Given the description of an element on the screen output the (x, y) to click on. 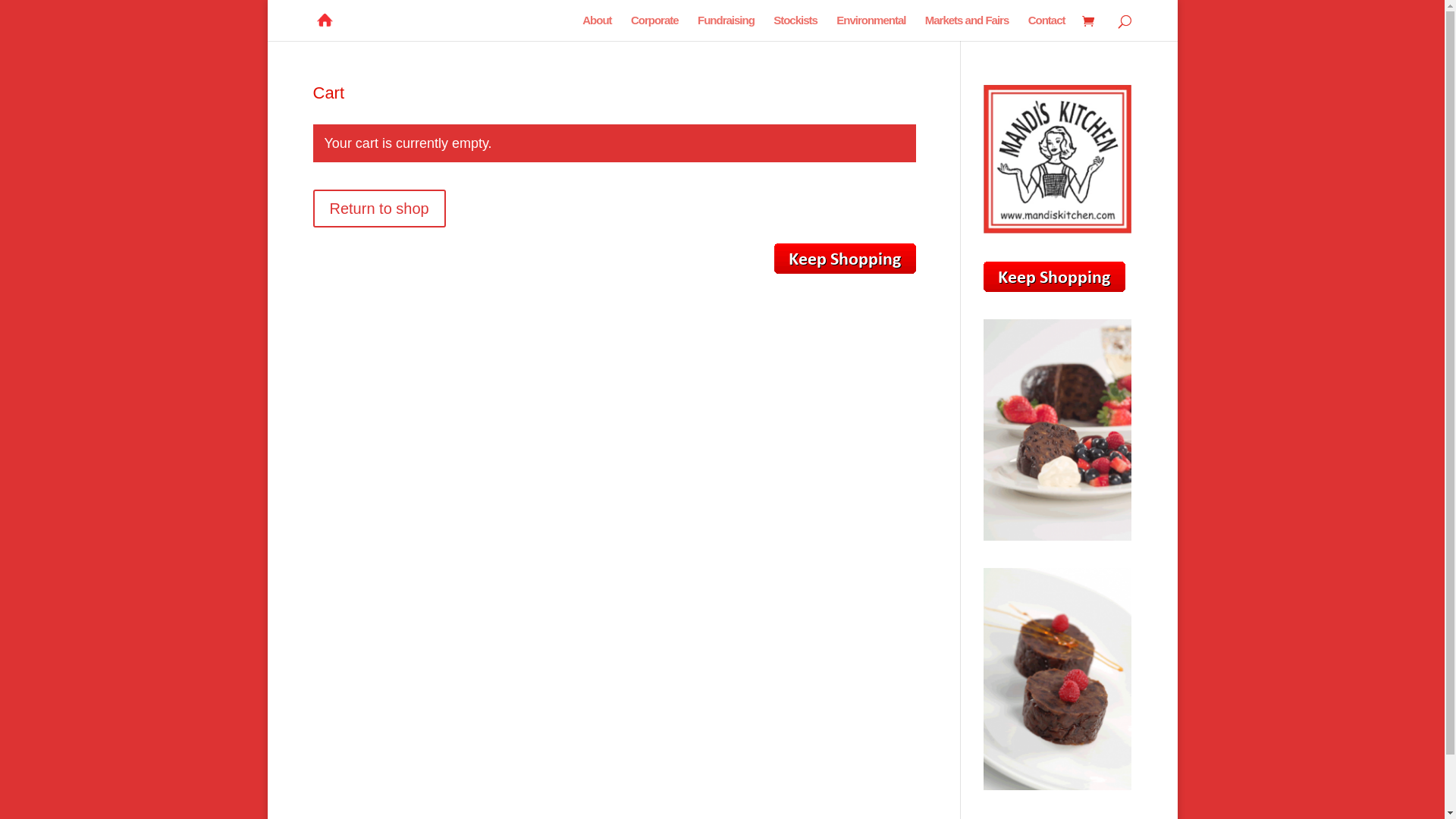
Fundraising Element type: text (725, 27)
Environmental Element type: text (870, 27)
Markets and Fairs Element type: text (967, 27)
Corporate Element type: text (654, 27)
Stockists Element type: text (795, 27)
Contact Element type: text (1046, 27)
Return to shop Element type: text (378, 208)
About Element type: text (596, 27)
